Given the description of an element on the screen output the (x, y) to click on. 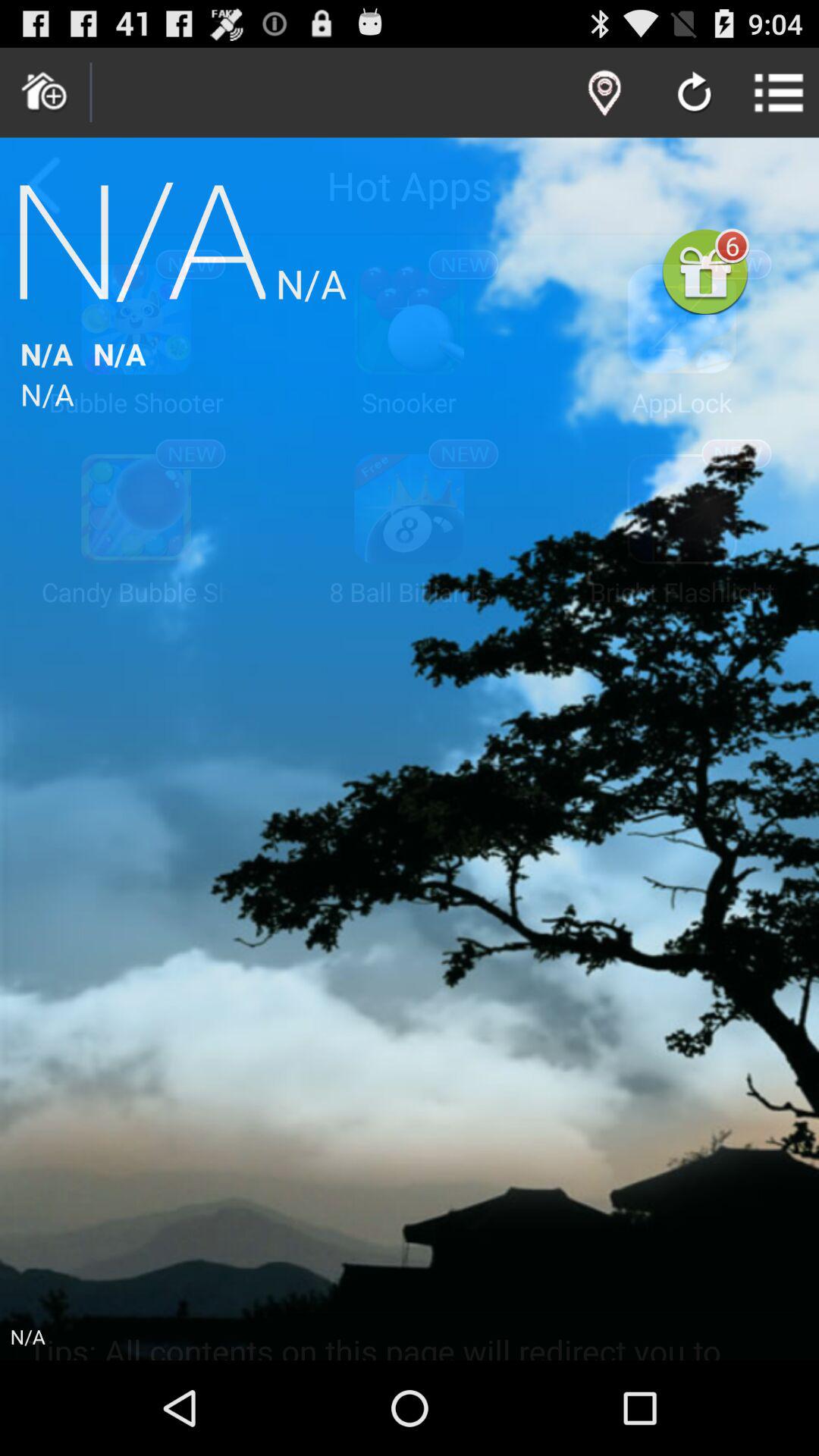
refresh page (694, 94)
